Given the description of an element on the screen output the (x, y) to click on. 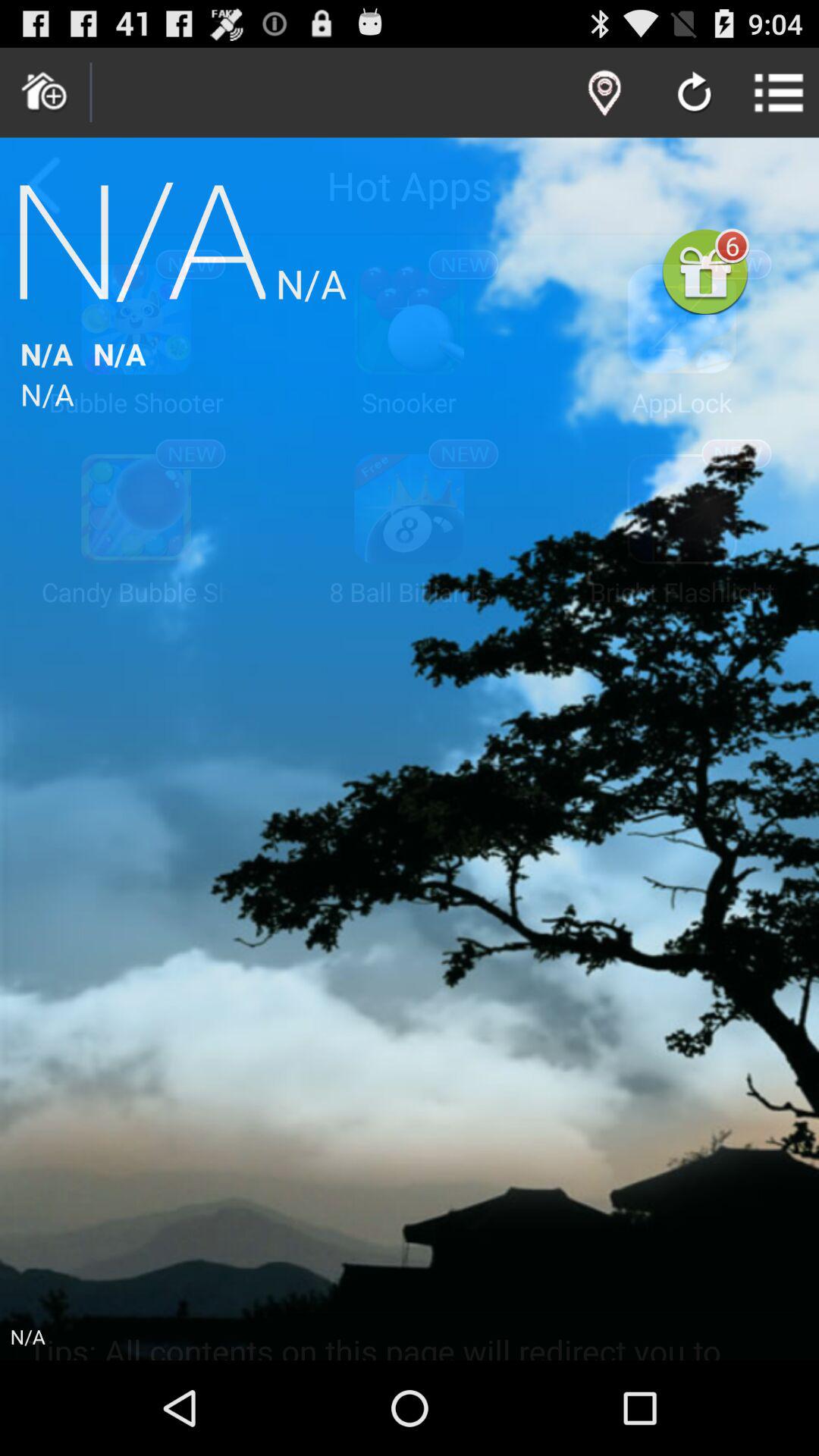
refresh page (694, 94)
